Given the description of an element on the screen output the (x, y) to click on. 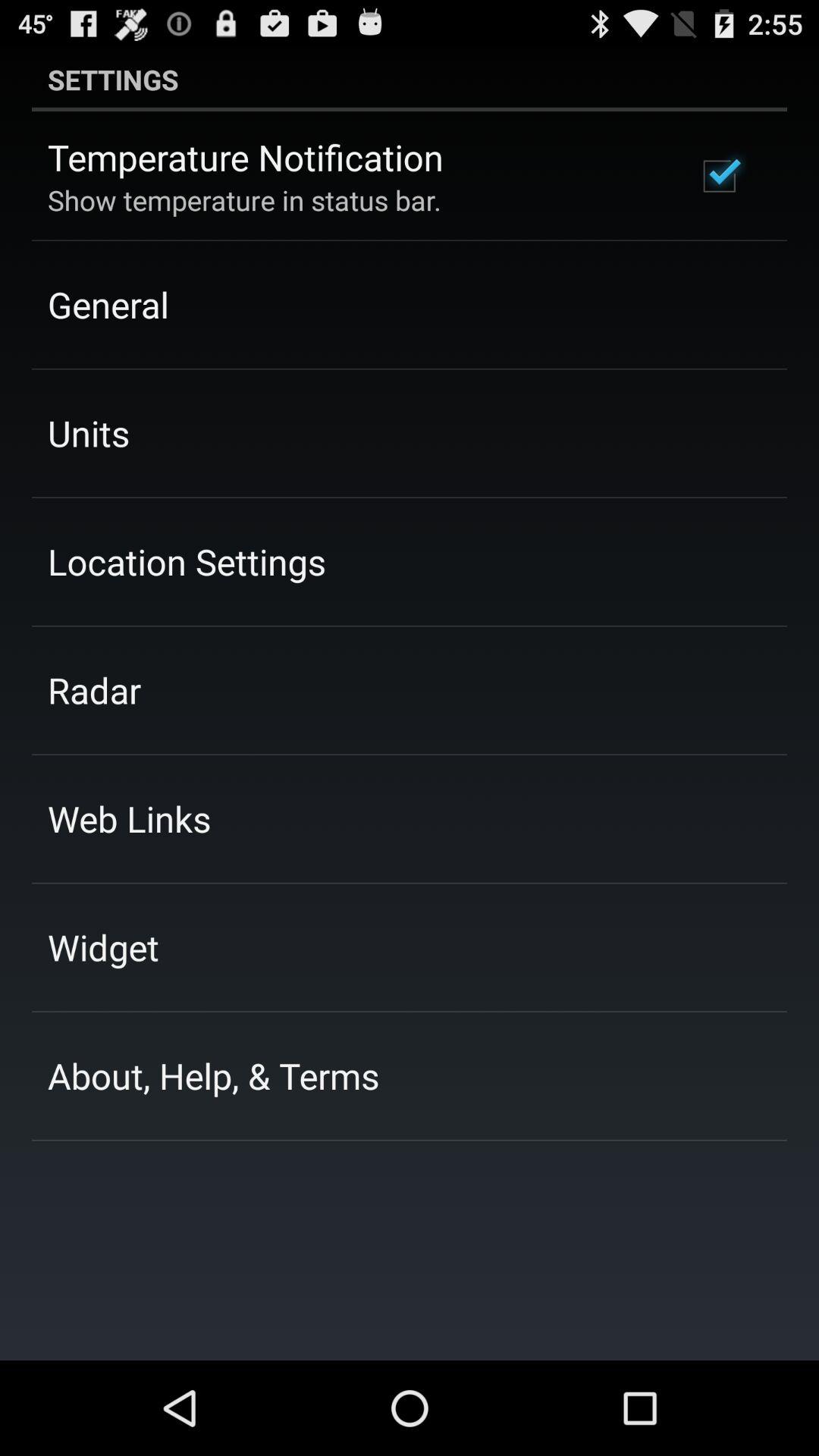
choose the app next to the temperature notification (719, 176)
